Given the description of an element on the screen output the (x, y) to click on. 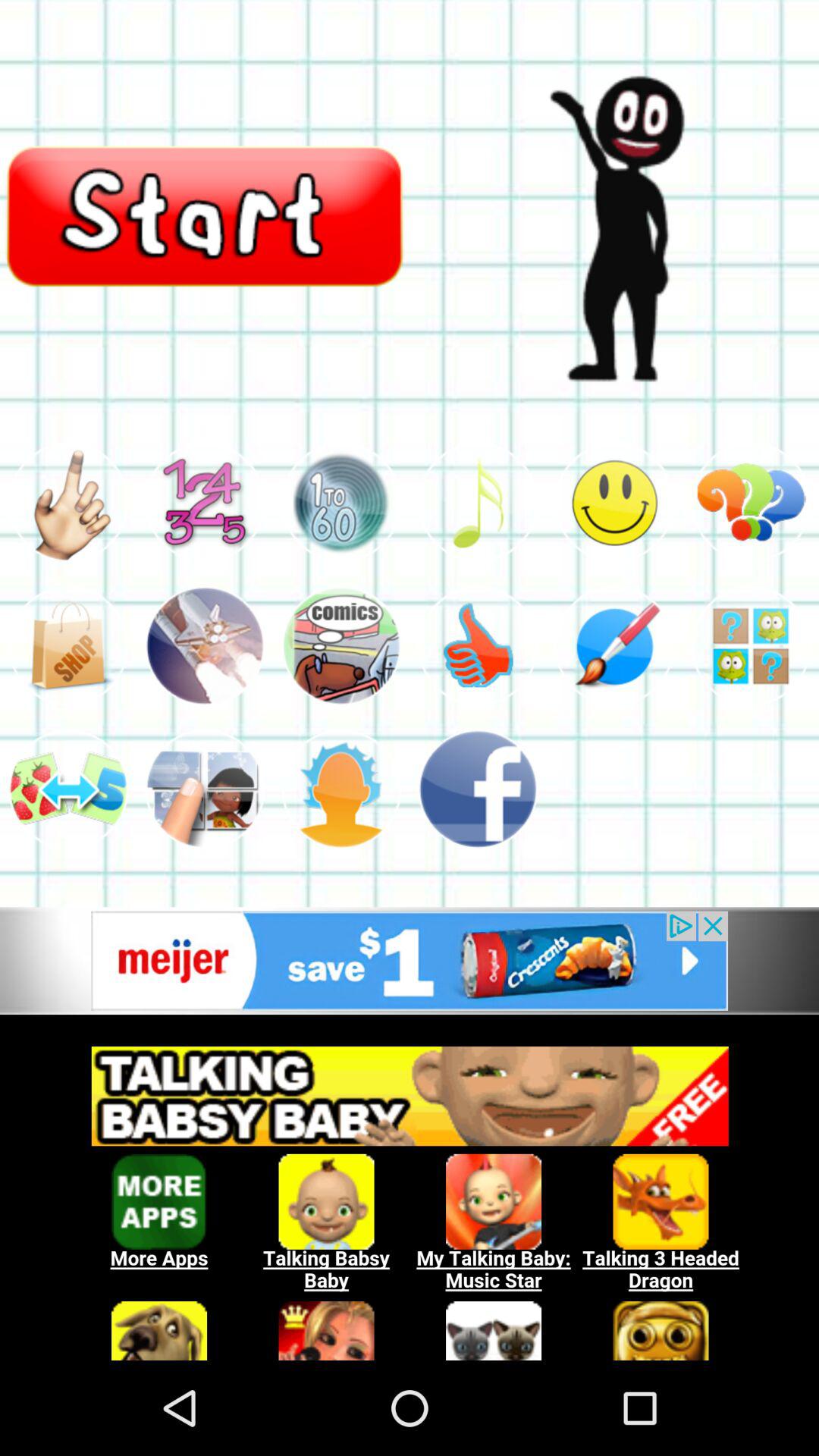
games options (204, 645)
